Given the description of an element on the screen output the (x, y) to click on. 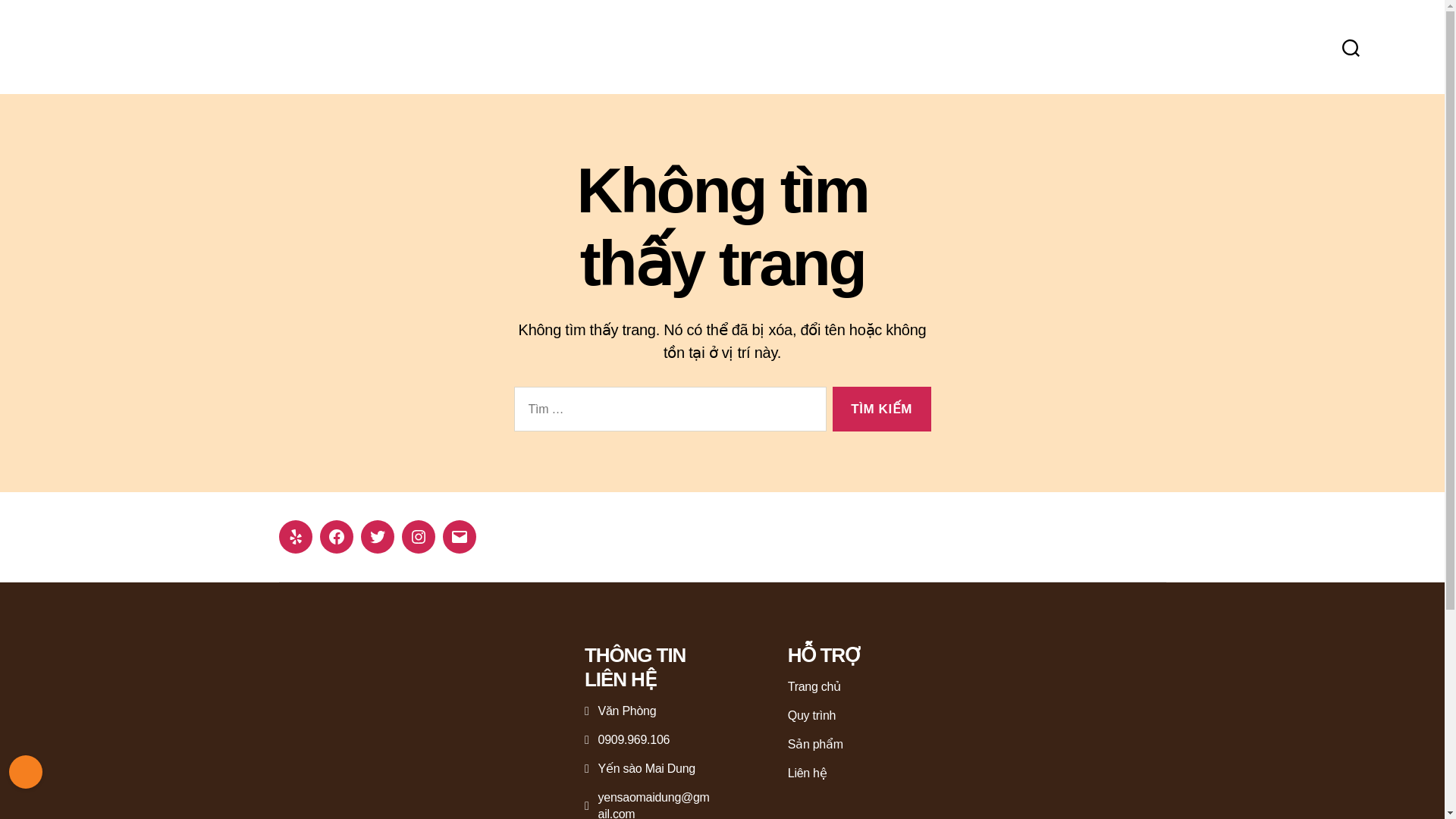
Yelp (296, 536)
Facebook (336, 536)
Twitter (377, 536)
0909.969.106 (627, 740)
Instagram (418, 536)
Email (459, 536)
